Given the description of an element on the screen output the (x, y) to click on. 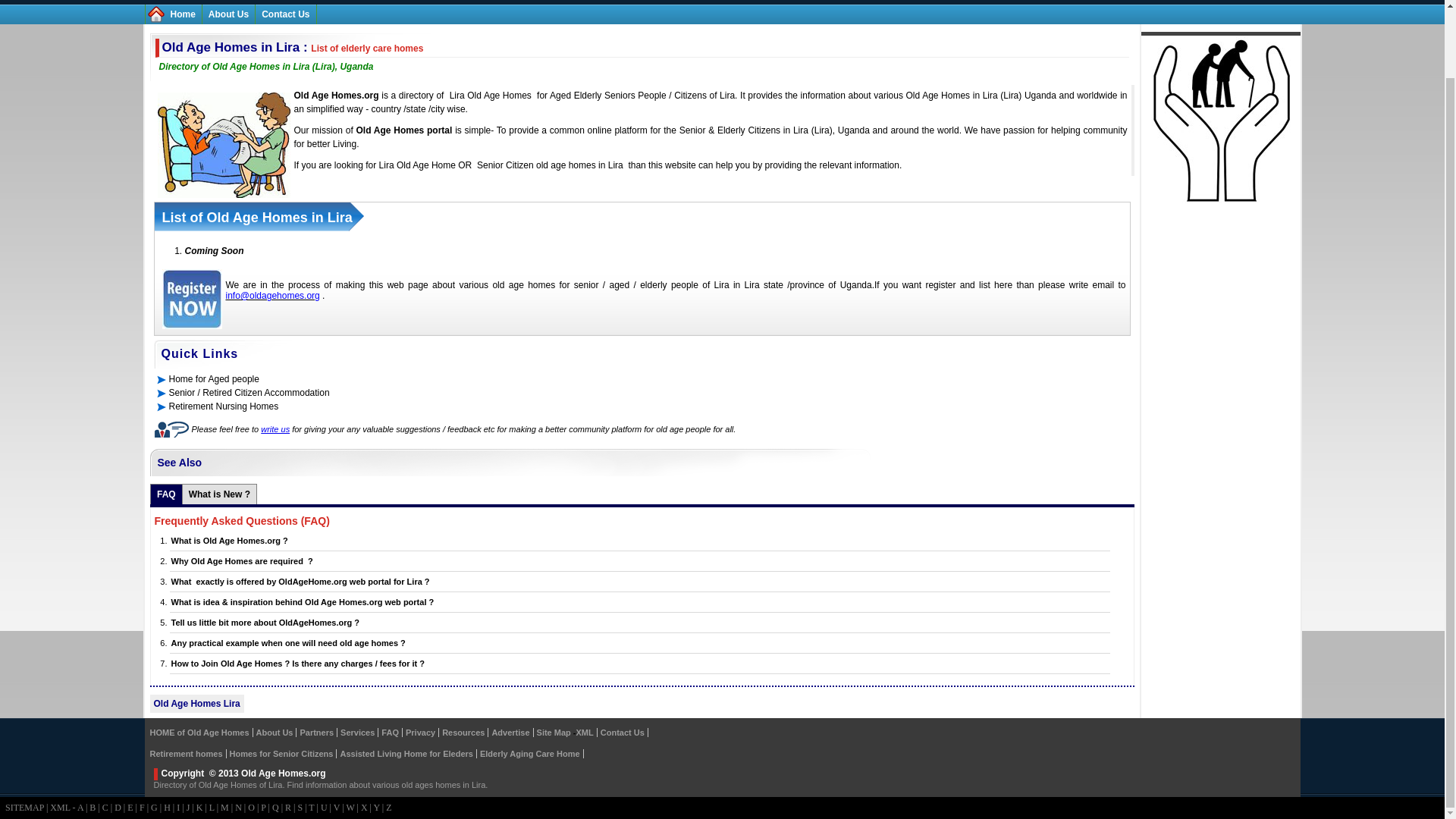
Partners (316, 732)
HOME of Old Age Homes (198, 732)
write us (274, 429)
What is New ? (220, 494)
Privacy (420, 732)
Home of Old Age People (181, 14)
old age homes in Lira (579, 164)
Contact Us (285, 14)
About Us (228, 14)
About Us (275, 732)
